Given the description of an element on the screen output the (x, y) to click on. 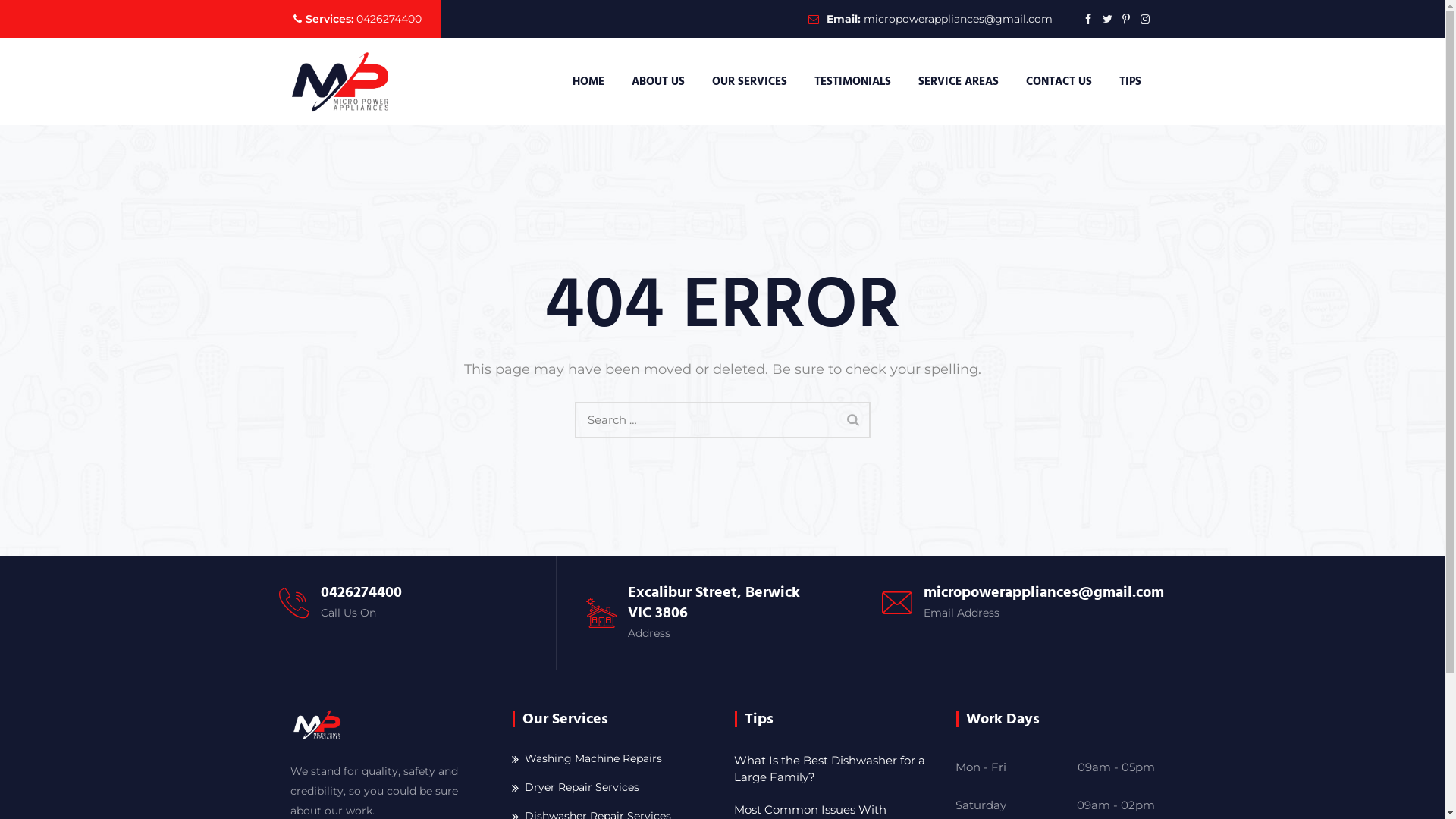
micropowerappliances@gmail.com Element type: text (956, 18)
ABOUT US Element type: text (657, 81)
What Is the Best Dishwasher for a Large Family? Element type: text (833, 768)
TIPS Element type: text (1129, 81)
Search Element type: text (852, 418)
CONTACT US Element type: text (1057, 81)
TESTIMONIALS Element type: text (852, 81)
SERVICE AREAS Element type: text (957, 81)
HOME Element type: text (587, 81)
Washing Machine Repairs Element type: text (586, 758)
OUR SERVICES Element type: text (748, 81)
Dryer Repair Services Element type: text (575, 787)
Micro Power Appliances Element type: hover (339, 81)
